Given the description of an element on the screen output the (x, y) to click on. 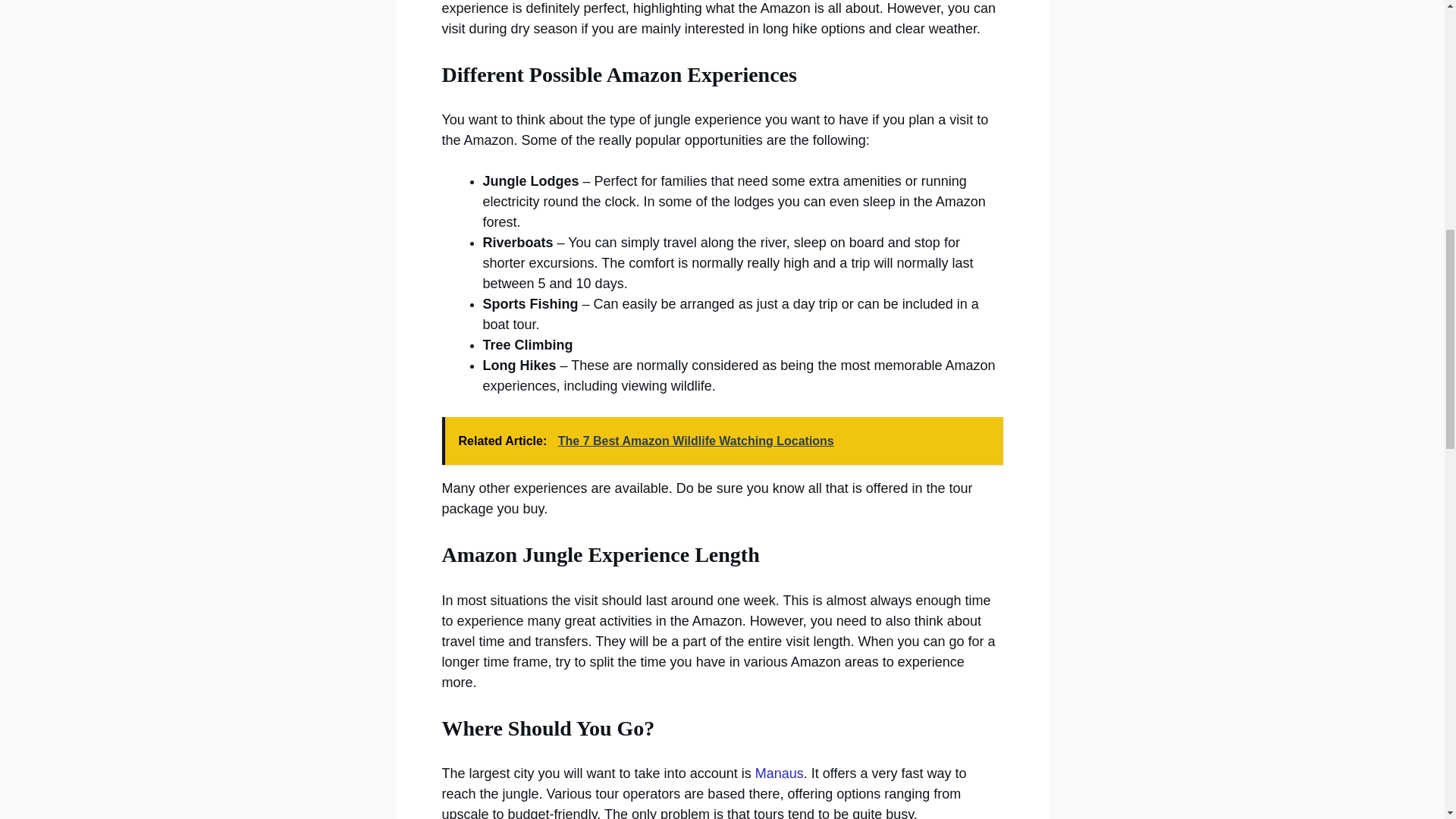
Manaus (779, 773)
